Given the description of an element on the screen output the (x, y) to click on. 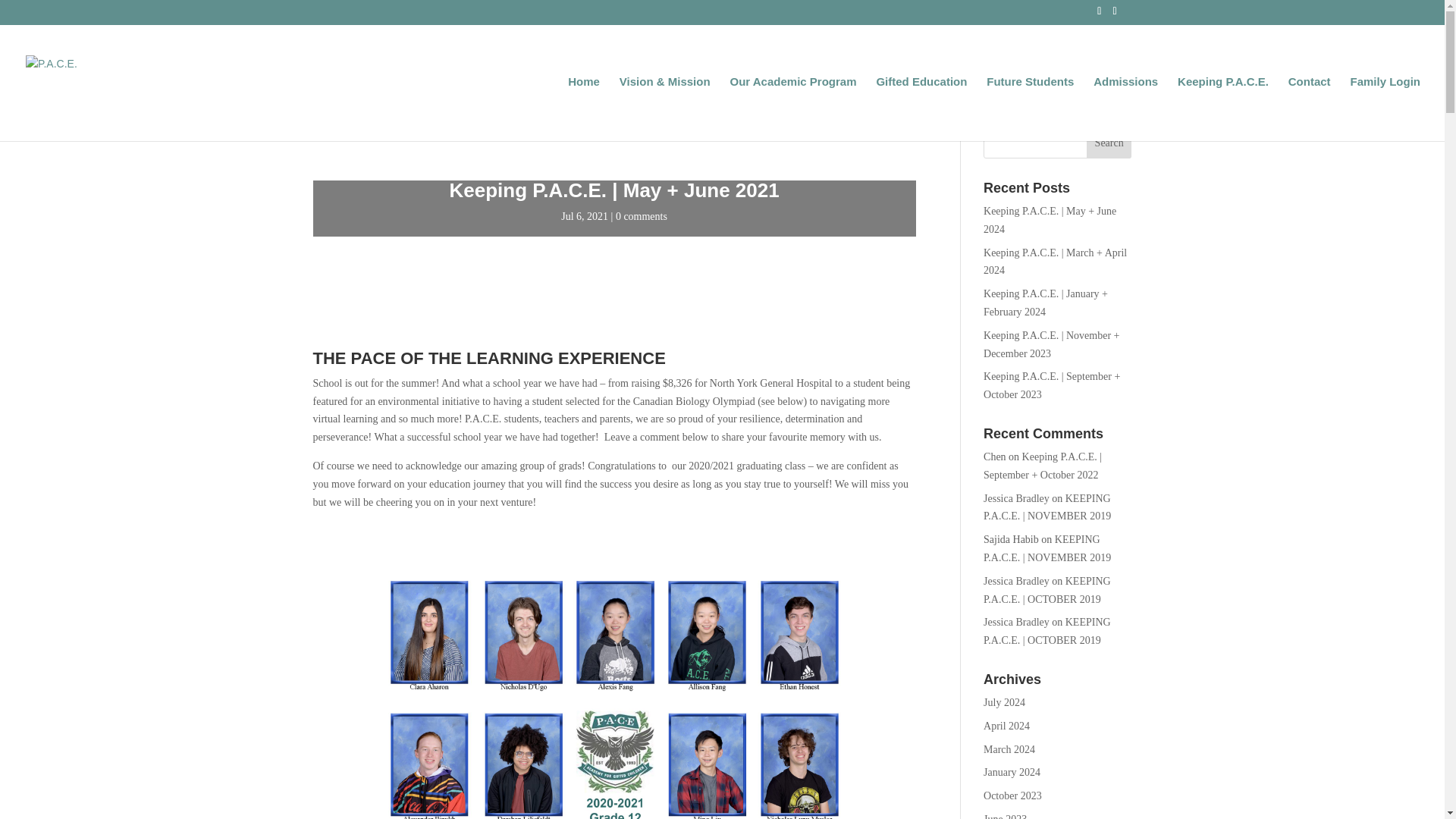
0 comments (640, 215)
Our Academic Program (792, 108)
Future Students (1030, 108)
January 2024 (1012, 772)
March 2024 (1009, 749)
July 2024 (1004, 702)
Jessica Bradley (1016, 581)
Admissions (1125, 108)
Gifted Education (921, 108)
Keeping P.A.C.E. (1222, 108)
